Given the description of an element on the screen output the (x, y) to click on. 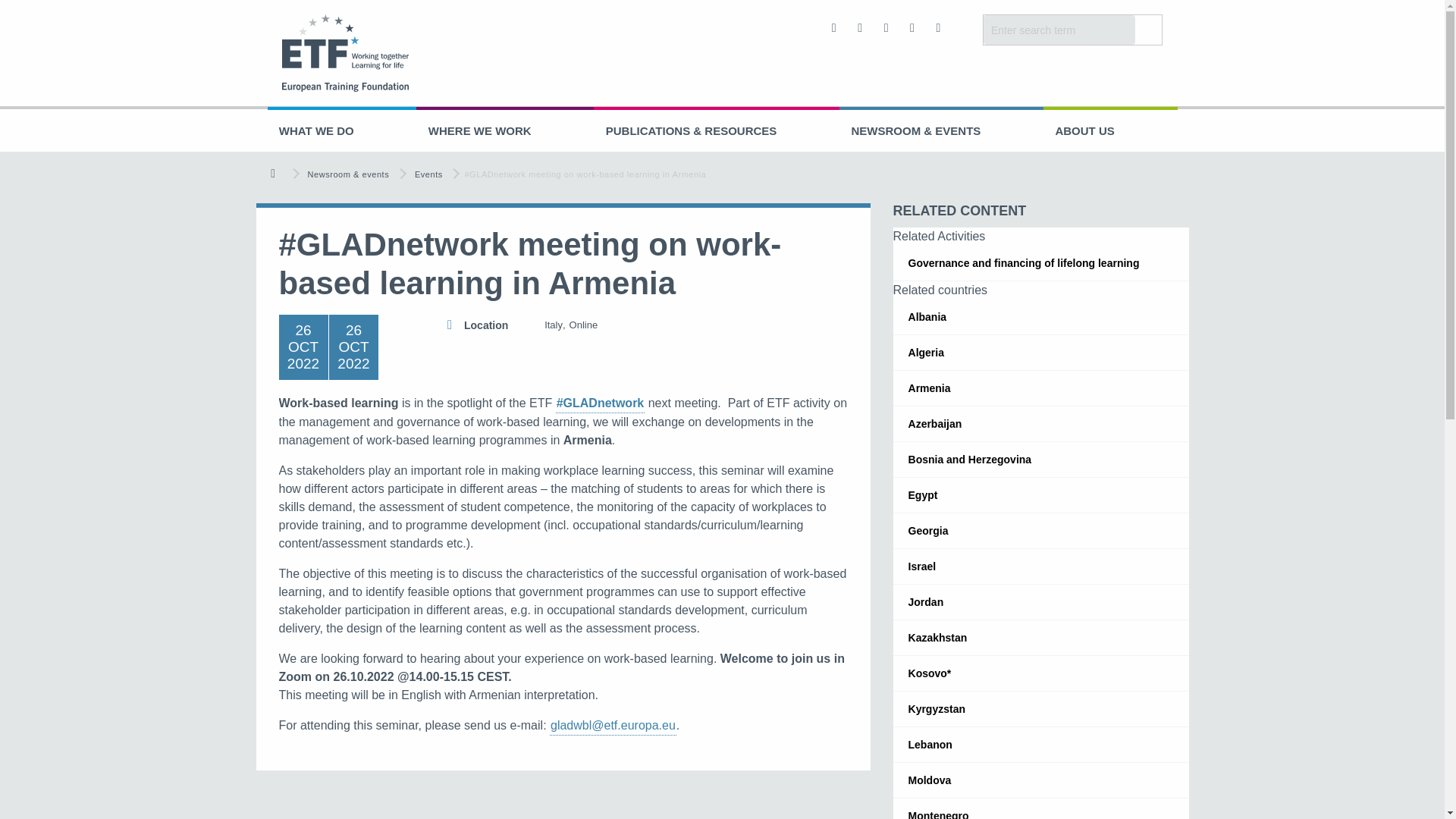
Youtube (887, 28)
WHAT WE DO (341, 130)
WHERE WE WORK (505, 130)
Instagram (938, 28)
Search (1148, 30)
Facebook (834, 28)
Follow us on Facebook (834, 28)
ETF Home (381, 52)
Follow us on Instagram (938, 28)
